Given the description of an element on the screen output the (x, y) to click on. 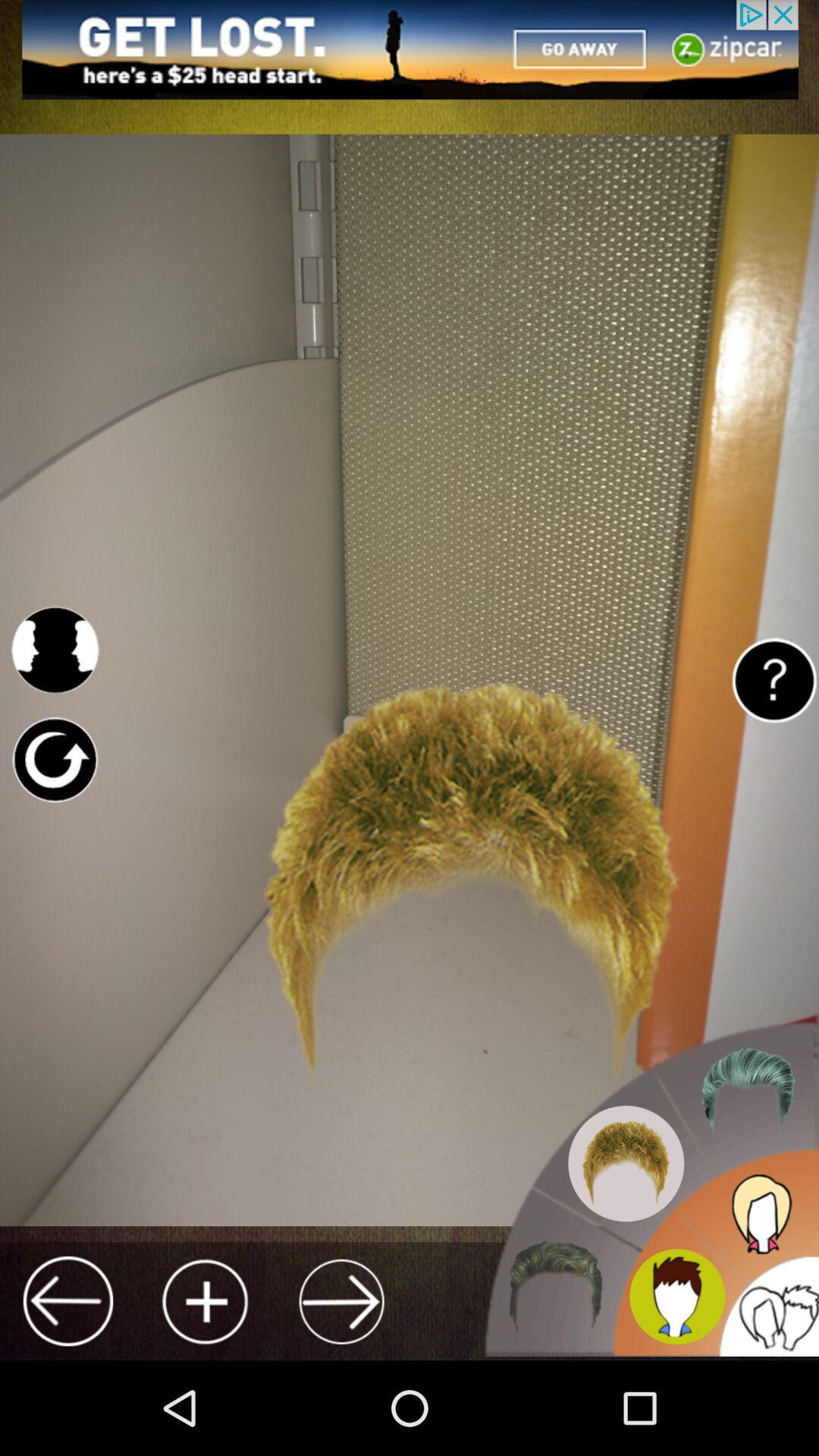
go to next page (341, 1301)
